Given the description of an element on the screen output the (x, y) to click on. 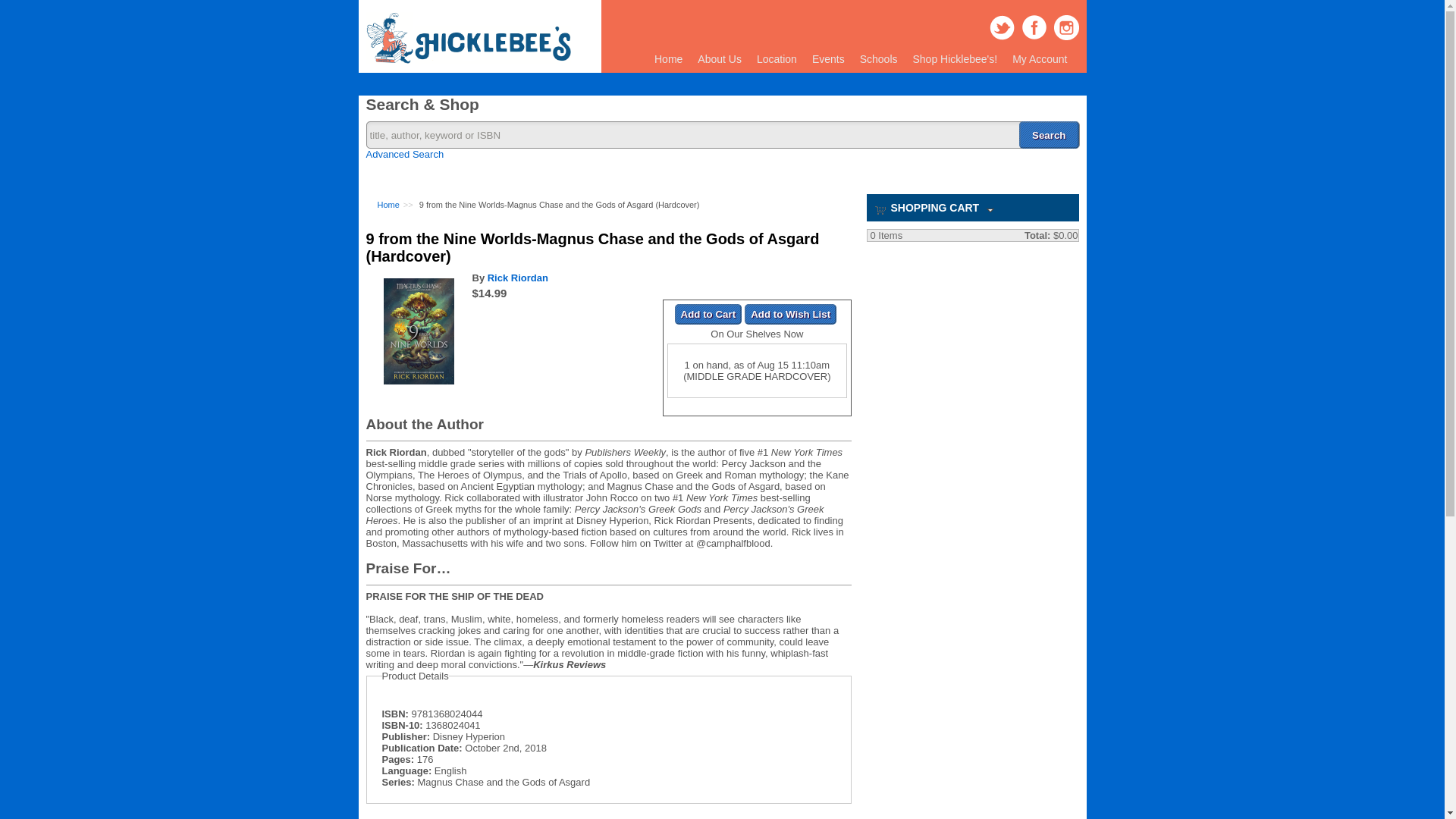
Search (1048, 134)
Add to Cart (708, 313)
Add to Wish List (789, 313)
Home (467, 60)
Search (1048, 134)
About Us (719, 58)
My Account (1039, 58)
Home (387, 204)
Events (828, 58)
